Given the description of an element on the screen output the (x, y) to click on. 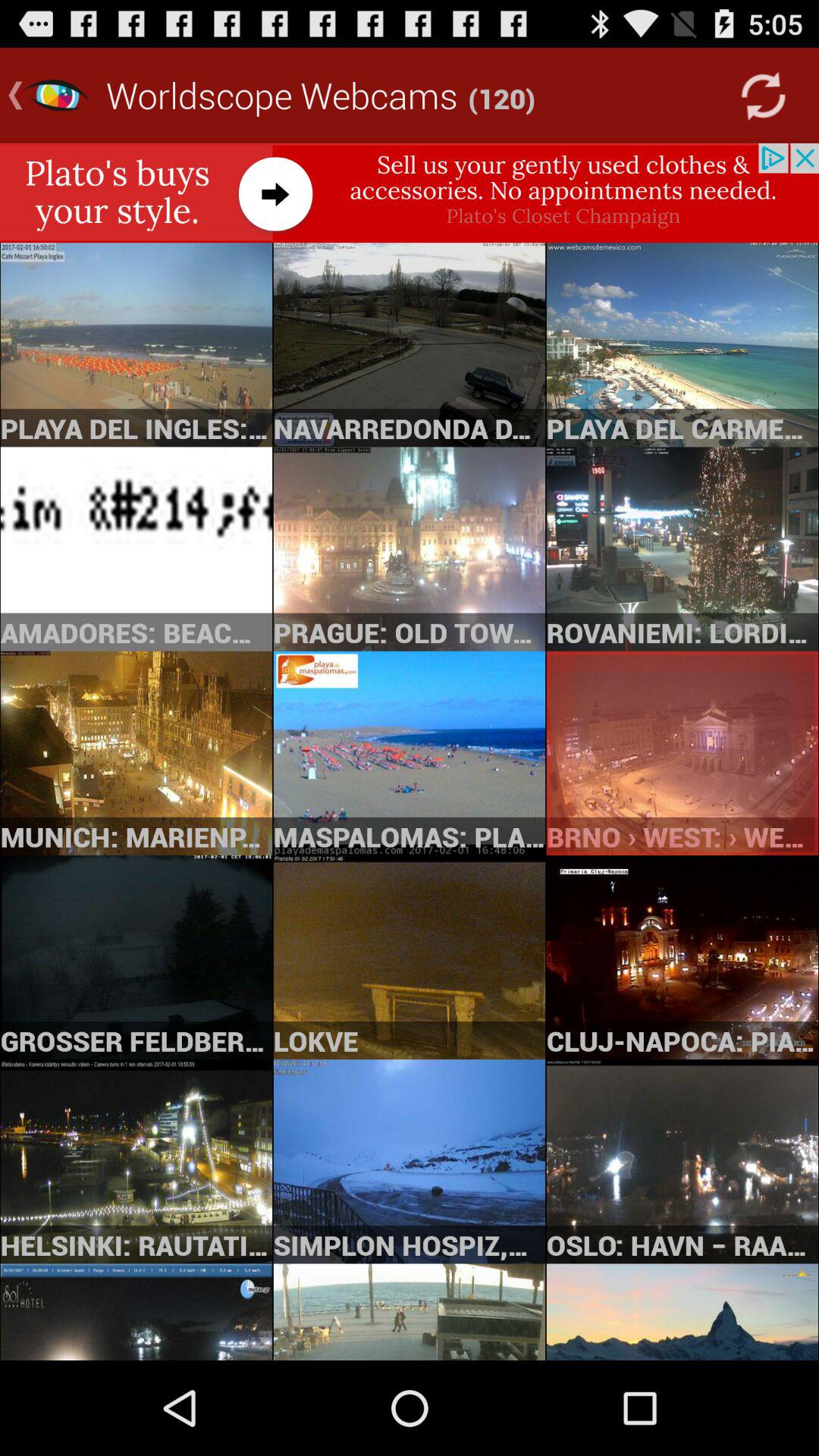
visit plato 's (409, 192)
